Given the description of an element on the screen output the (x, y) to click on. 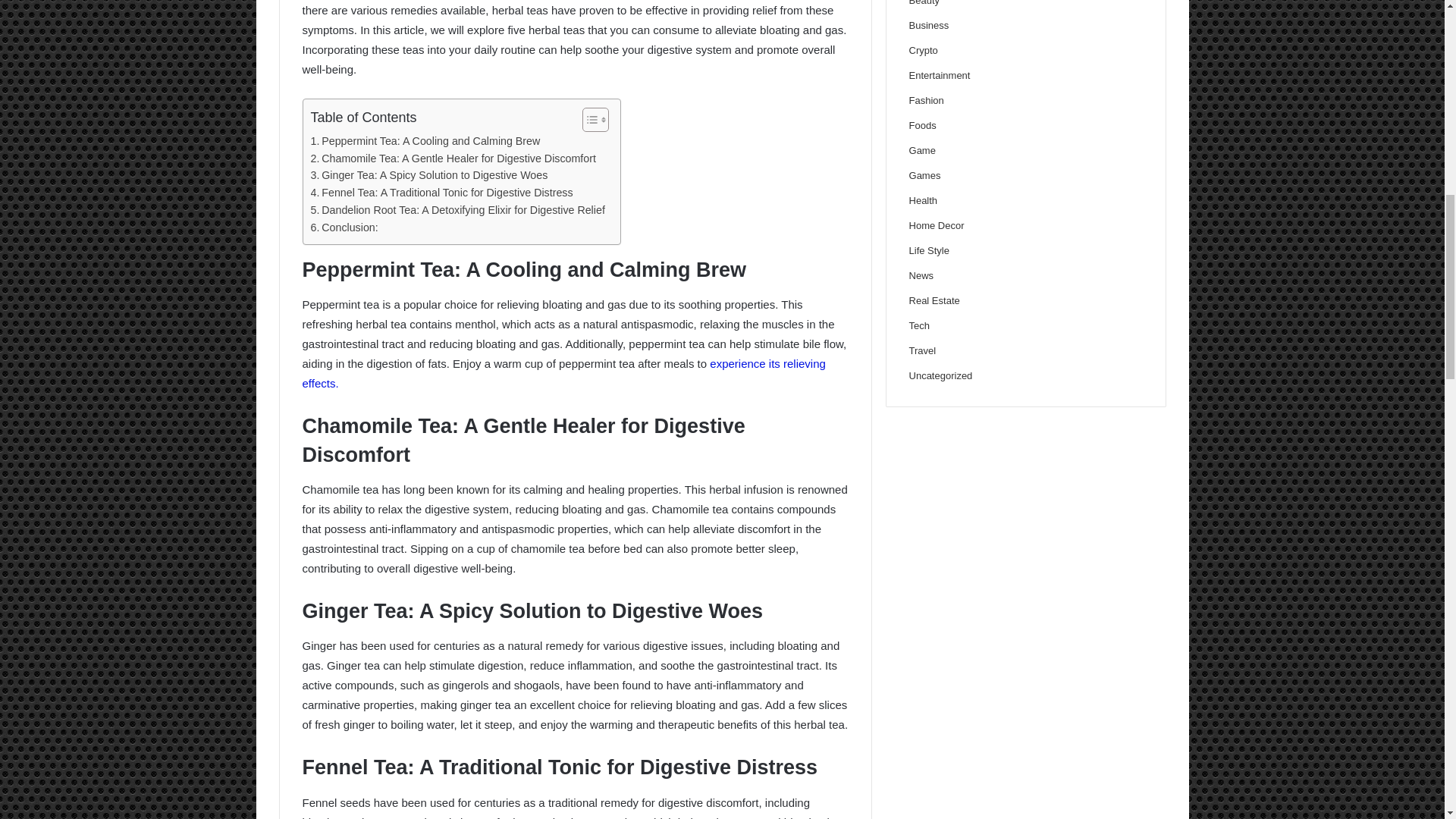
Fennel Tea: A Traditional Tonic for Digestive Distress (442, 192)
Ginger Tea: A Spicy Solution to Digestive Woes (429, 175)
Peppermint Tea: A Cooling and Calming Brew (425, 140)
experience its relieving effects. (563, 373)
Peppermint Tea: A Cooling and Calming Brew (425, 140)
Fennel Tea: A Traditional Tonic for Digestive Distress (442, 192)
Conclusion: (344, 227)
Chamomile Tea: A Gentle Healer for Digestive Discomfort (453, 158)
Conclusion: (344, 227)
Ginger Tea: A Spicy Solution to Digestive Woes (429, 175)
Chamomile Tea: A Gentle Healer for Digestive Discomfort (453, 158)
